Given the description of an element on the screen output the (x, y) to click on. 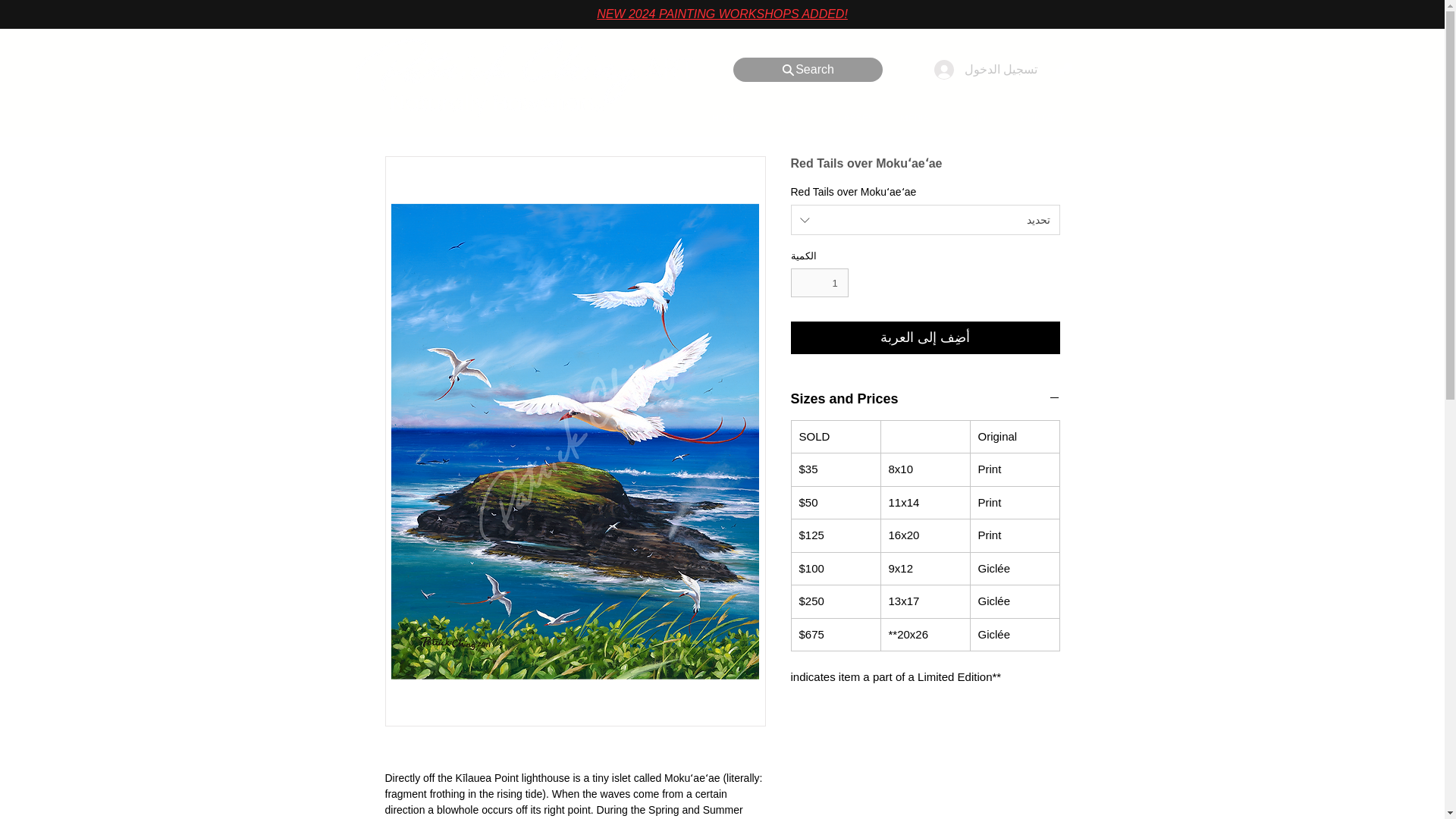
BIO (977, 118)
ART (788, 118)
1 (818, 282)
MEDIA (913, 118)
NEW 2024 PAINTING WORKSHOPS ADDED! (721, 13)
HOME (725, 118)
CONTACT (1040, 118)
CLASSES (852, 118)
Sizes and Prices (924, 398)
Search (807, 69)
